Given the description of an element on the screen output the (x, y) to click on. 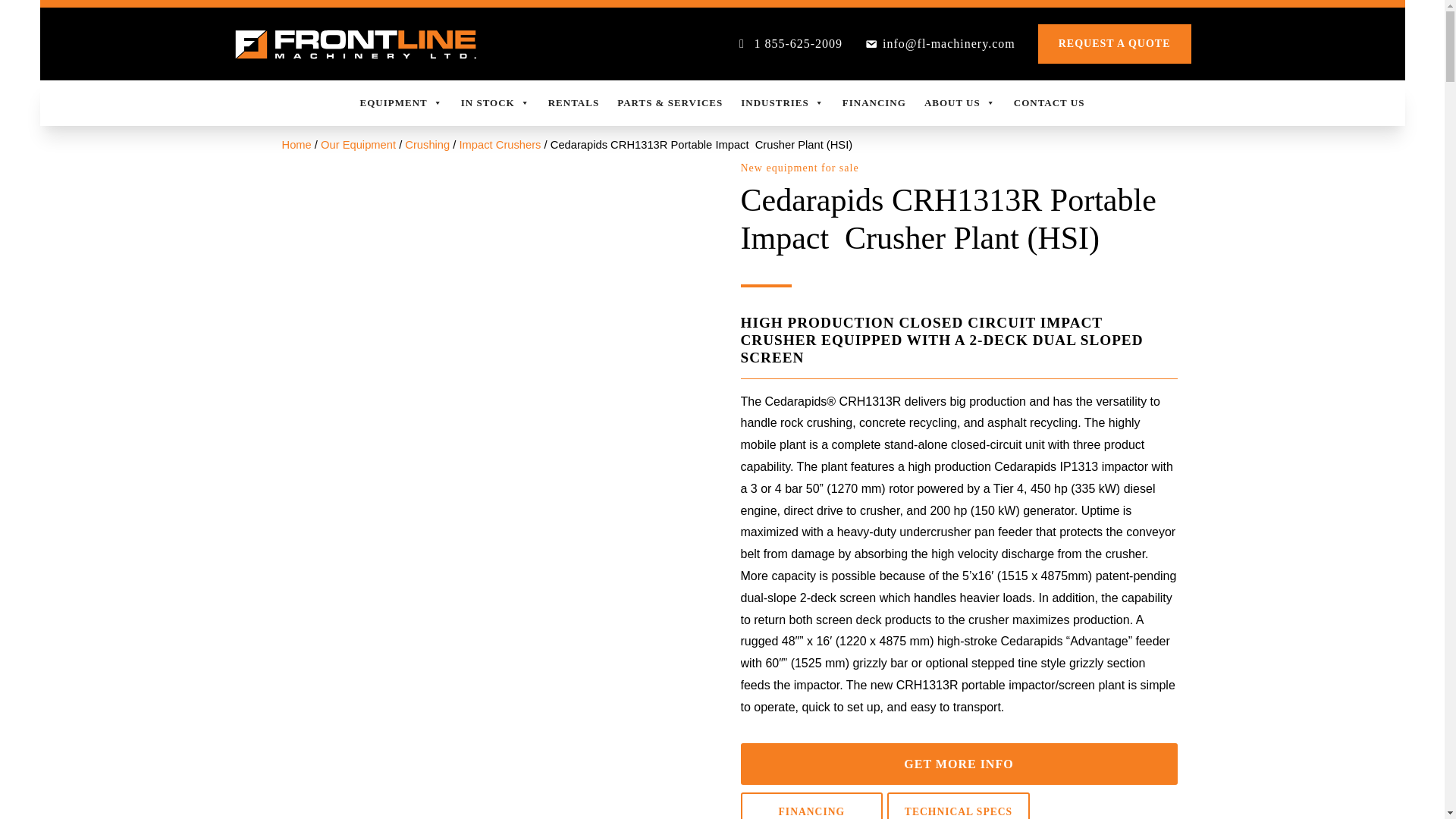
REQUEST A QUOTE (1114, 43)
EQUIPMENT (400, 103)
1 855-625-2009 (788, 43)
